Given the description of an element on the screen output the (x, y) to click on. 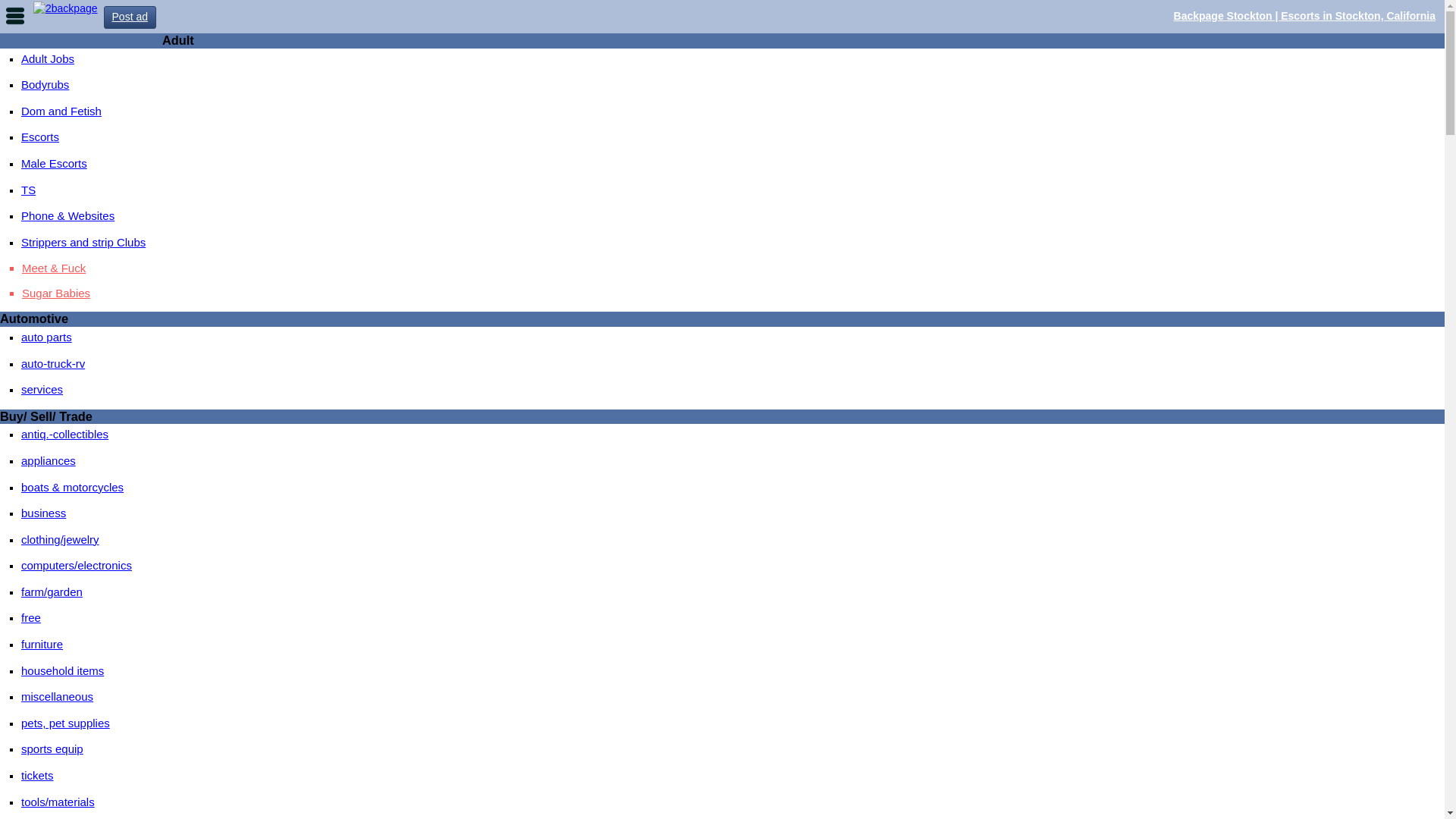
Male Escorts Element type: text (54, 162)
farm/garden Element type: text (51, 591)
nav Element type: text (15, 15)
pets, pet supplies Element type: text (65, 722)
TS Element type: text (28, 189)
boats & motorcycles Element type: text (72, 486)
tools/materials Element type: text (57, 801)
free Element type: text (30, 617)
miscellaneous Element type: text (57, 696)
Sugar Babies Element type: text (732, 293)
sports equip Element type: text (52, 748)
Meet & Fuck Element type: text (732, 268)
2backpage Element type: hover (65, 8)
Backpage Stockton | Escorts in Stockton, California Element type: text (1304, 15)
Escorts Element type: text (40, 136)
services Element type: text (41, 388)
appliances Element type: text (48, 460)
auto-truck-rv Element type: text (52, 363)
Dom and Fetish Element type: text (61, 110)
business Element type: text (43, 512)
Post ad Element type: text (129, 17)
Phone & Websites Element type: text (67, 215)
tickets Element type: text (37, 774)
Bodyrubs Element type: text (45, 84)
furniture Element type: text (41, 643)
Adult Jobs Element type: text (47, 58)
antiq.-collectibles Element type: text (64, 433)
household items Element type: text (62, 670)
clothing/jewelry Element type: text (60, 539)
computers/electronics Element type: text (76, 564)
auto parts Element type: text (46, 336)
Strippers and strip Clubs Element type: text (83, 241)
